Given the description of an element on the screen output the (x, y) to click on. 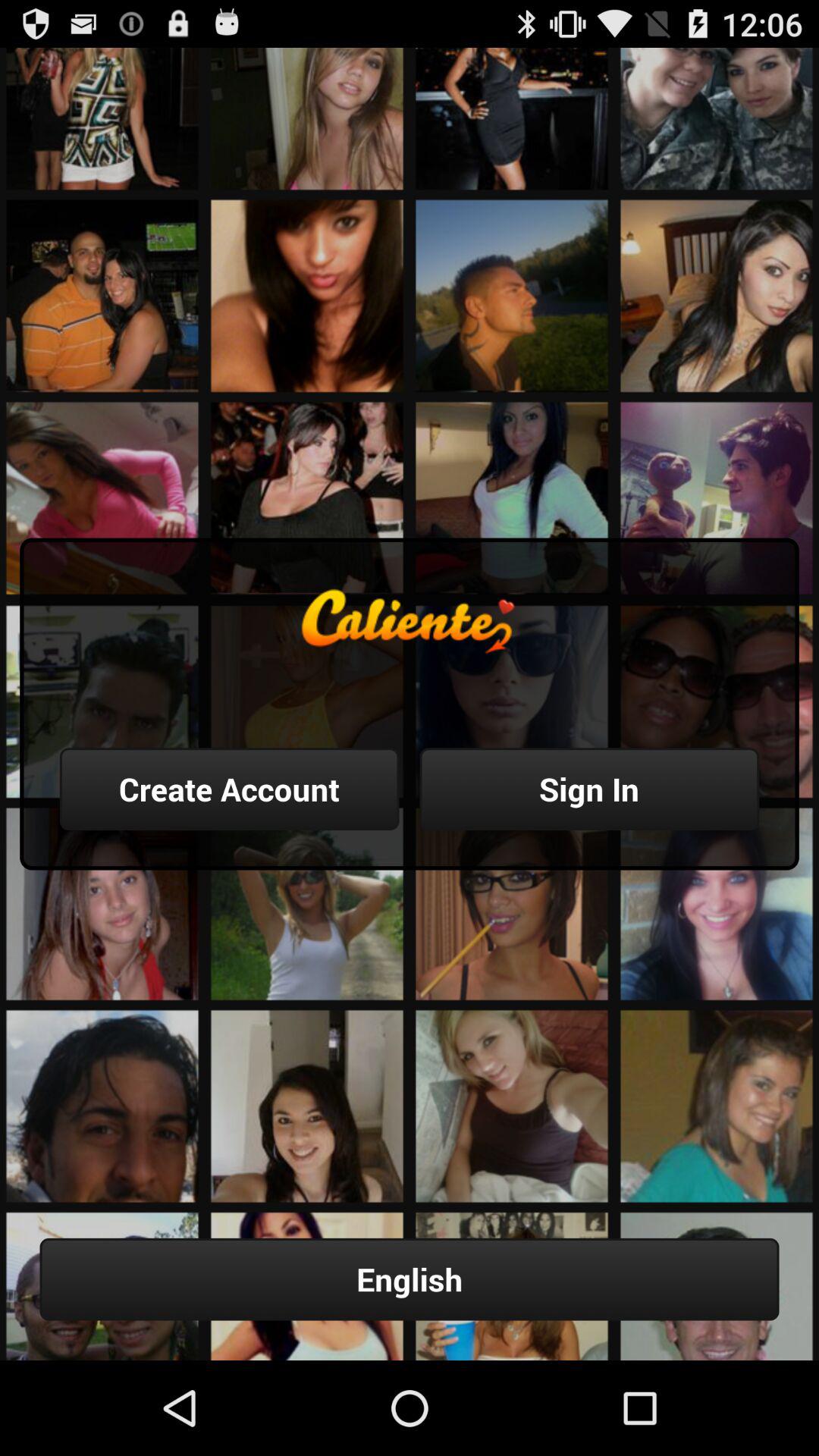
choose item above the english button (229, 788)
